Given the description of an element on the screen output the (x, y) to click on. 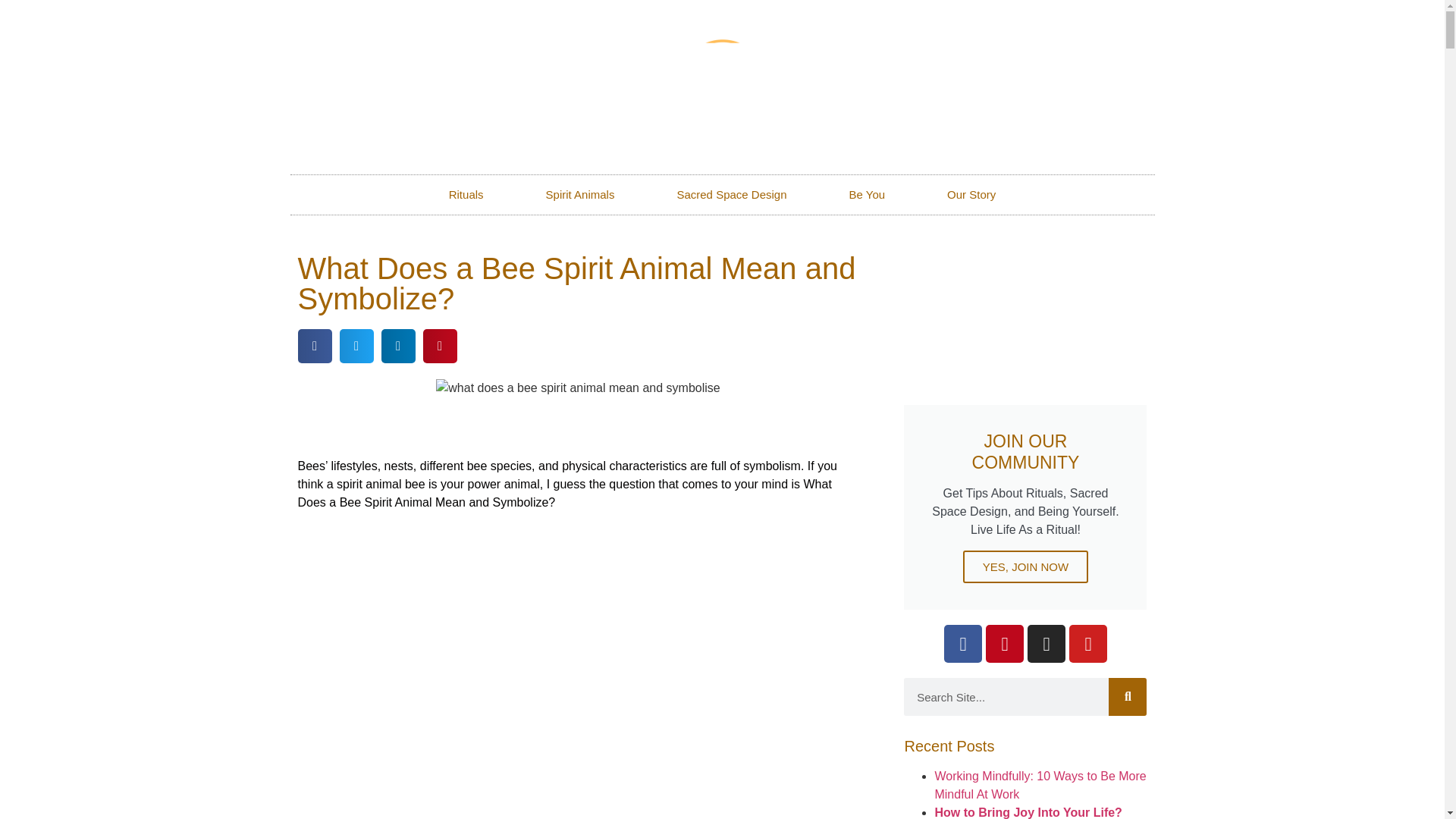
Spirit Animals (580, 194)
Sacred Space Design (730, 194)
what does a bee spirit animal mean and symbolise (577, 388)
Be You (867, 194)
Our Story (970, 194)
Rituals (466, 194)
